Given the description of an element on the screen output the (x, y) to click on. 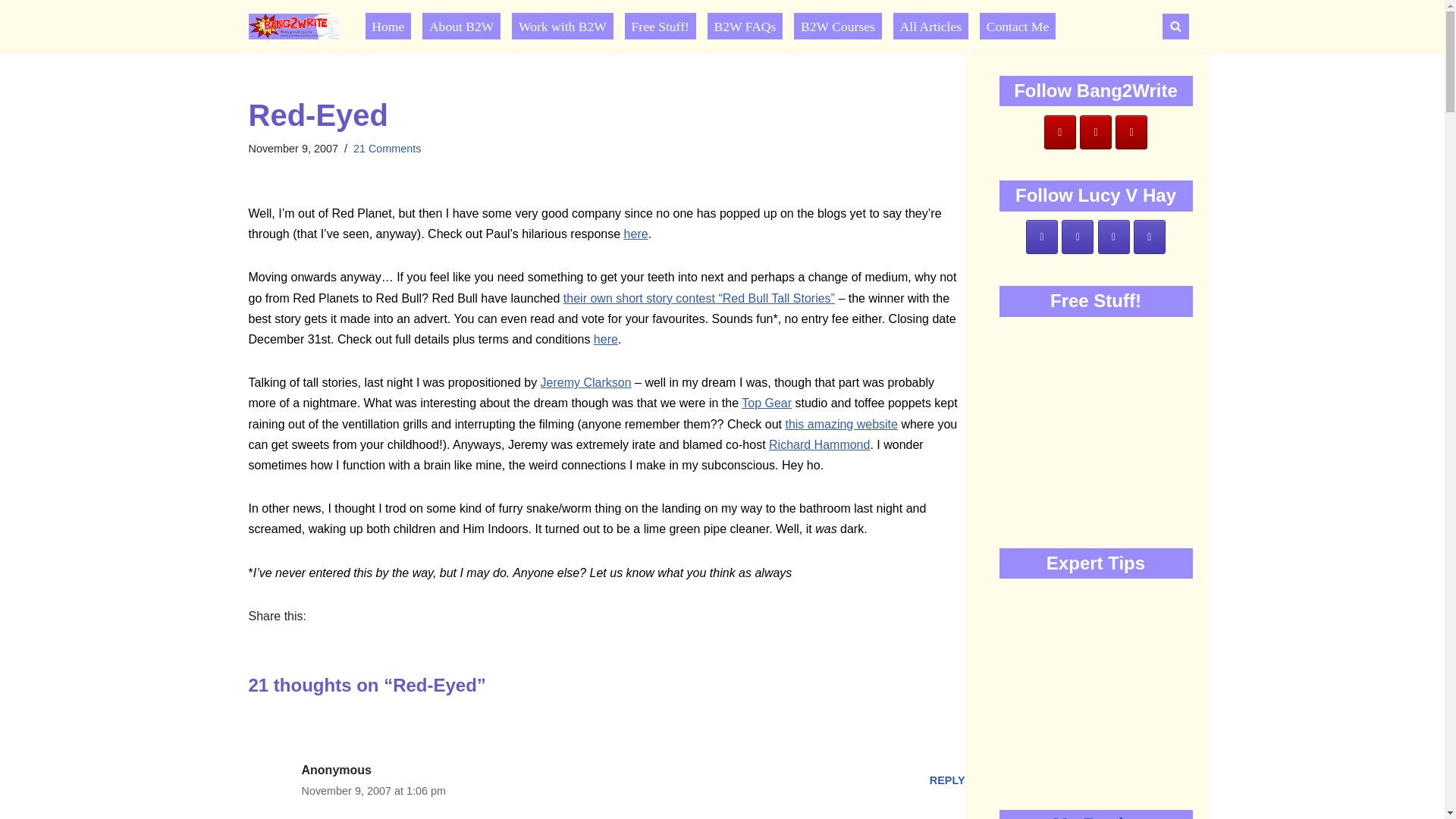
B2W Courses (837, 26)
this amazing website (841, 423)
21 Comments (387, 148)
Skip to content (11, 31)
Free Stuff! (659, 26)
Bang2write on X Twitter (1096, 132)
Contact Me (1017, 26)
Bang2write on X Twitter (1077, 236)
Bang2write on Pinterest (1131, 132)
here (605, 338)
